Given the description of an element on the screen output the (x, y) to click on. 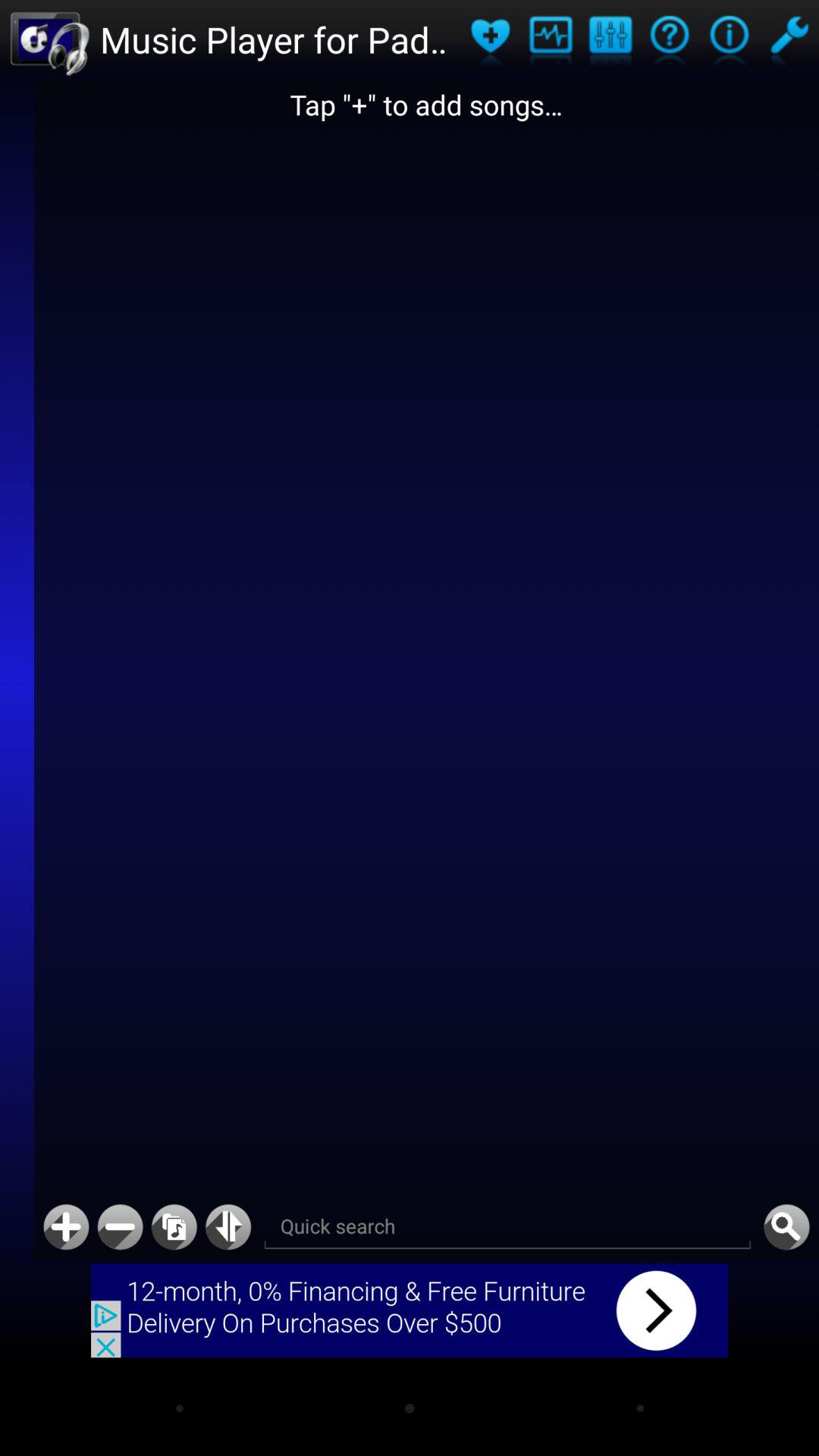
help button (669, 39)
